Given the description of an element on the screen output the (x, y) to click on. 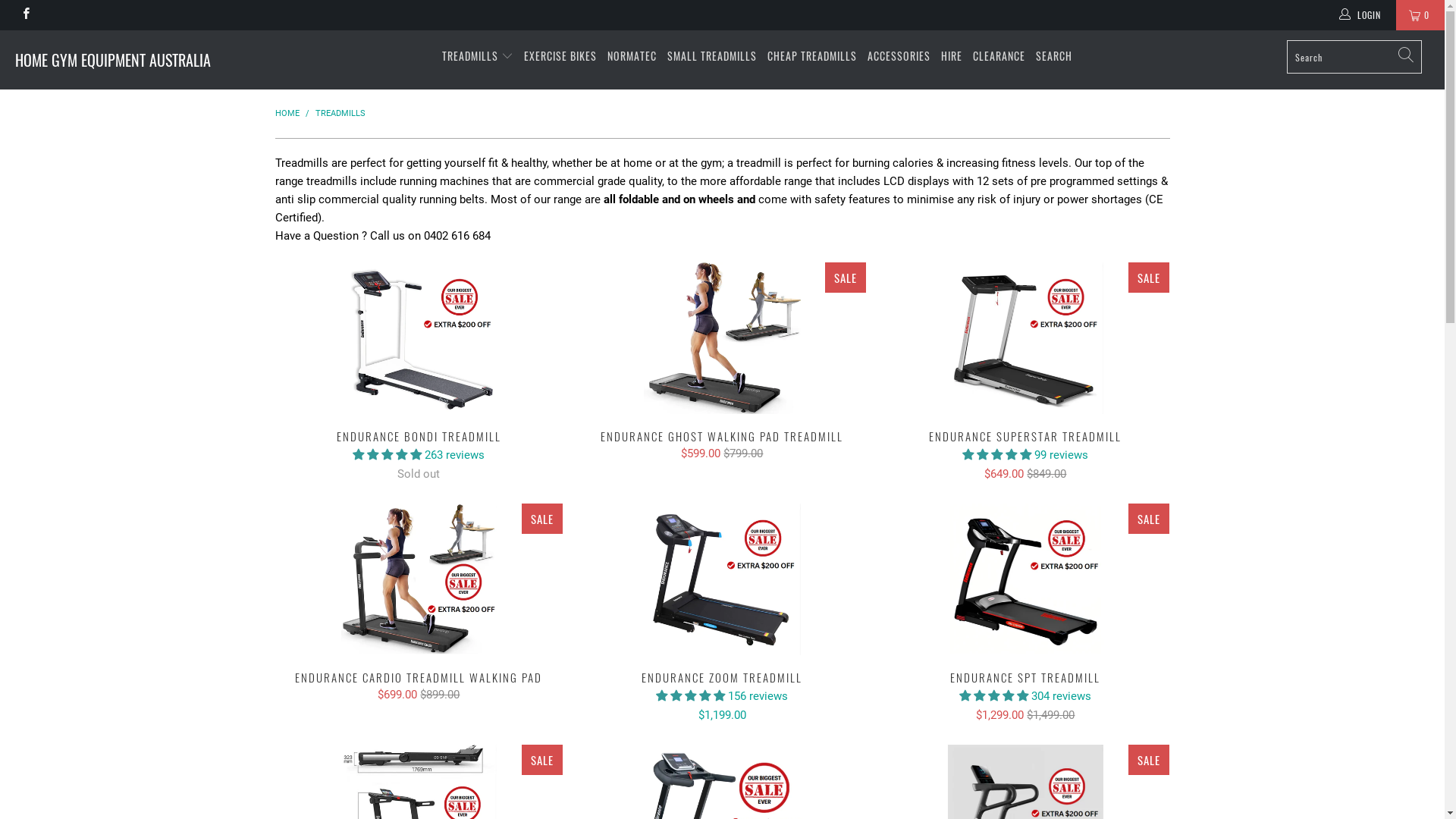
NORMATEC Element type: text (631, 56)
HOME Element type: text (286, 113)
CHEAP TREADMILLS Element type: text (811, 56)
LOGIN Element type: text (1360, 15)
TREADMILLS Element type: text (340, 113)
SMALL TREADMILLS Element type: text (711, 56)
HIRE Element type: text (951, 56)
ENDURANCE ZOOM TREADMILL
156 reviews
$1,199.00 Element type: text (721, 695)
Home Gym Equipment Australia on Facebook Element type: hover (24, 14)
CLEARANCE Element type: text (998, 56)
HOME GYM EQUIPMENT AUSTRALIA Element type: text (123, 59)
ENDURANCE SPT TREADMILL
304 reviews
$1,299.00 $1,499.00 Element type: text (1025, 695)
EXERCISE BIKES Element type: text (560, 56)
ENDURANCE GHOST WALKING PAD TREADMILL
$599.00 $799.00 Element type: text (721, 444)
TREADMILLS Element type: text (477, 56)
SEARCH Element type: text (1053, 56)
ENDURANCE BONDI TREADMILL
263 reviews
Sold out Element type: text (418, 454)
ENDURANCE SUPERSTAR TREADMILL
99 reviews
$649.00 $849.00 Element type: text (1025, 454)
0 Element type: text (1420, 15)
ACCESSORIES Element type: text (898, 56)
ENDURANCE CARDIO TREADMILL WALKING PAD
$699.00 $899.00 Element type: text (418, 685)
